Given the description of an element on the screen output the (x, y) to click on. 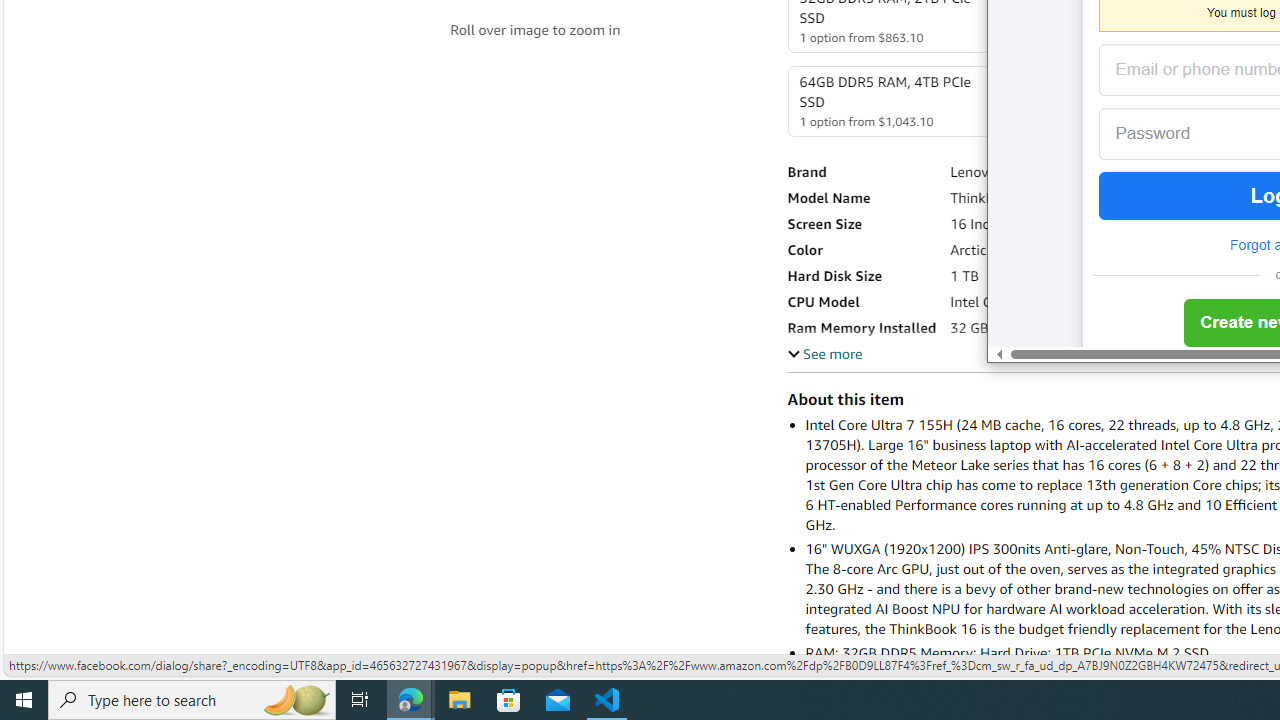
File Explorer (460, 699)
Visual Studio Code - 1 running window (607, 699)
Start (24, 699)
Microsoft Store (509, 699)
Type here to search (191, 699)
Search highlights icon opens search home window (295, 699)
Task View (359, 699)
Microsoft Edge - 2 running windows (411, 699)
